Given the description of an element on the screen output the (x, y) to click on. 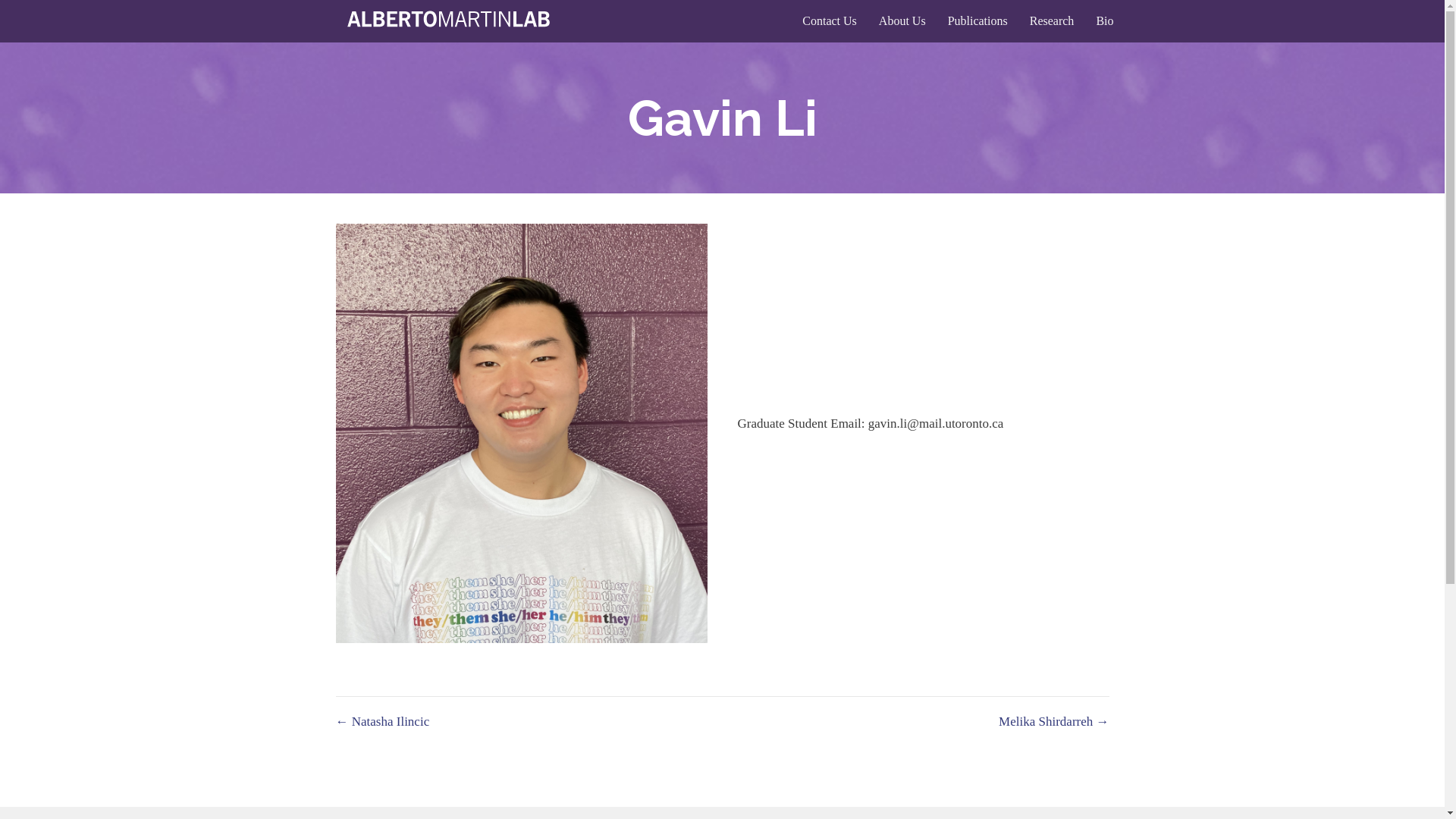
Contact Us Element type: text (829, 21)
Bio Element type: text (1104, 21)
Publications Element type: text (977, 21)
Research Element type: text (1052, 21)
About Us Element type: text (902, 21)
Tittologo Element type: hover (451, 21)
Gavin Picture Element type: hover (520, 433)
